Given the description of an element on the screen output the (x, y) to click on. 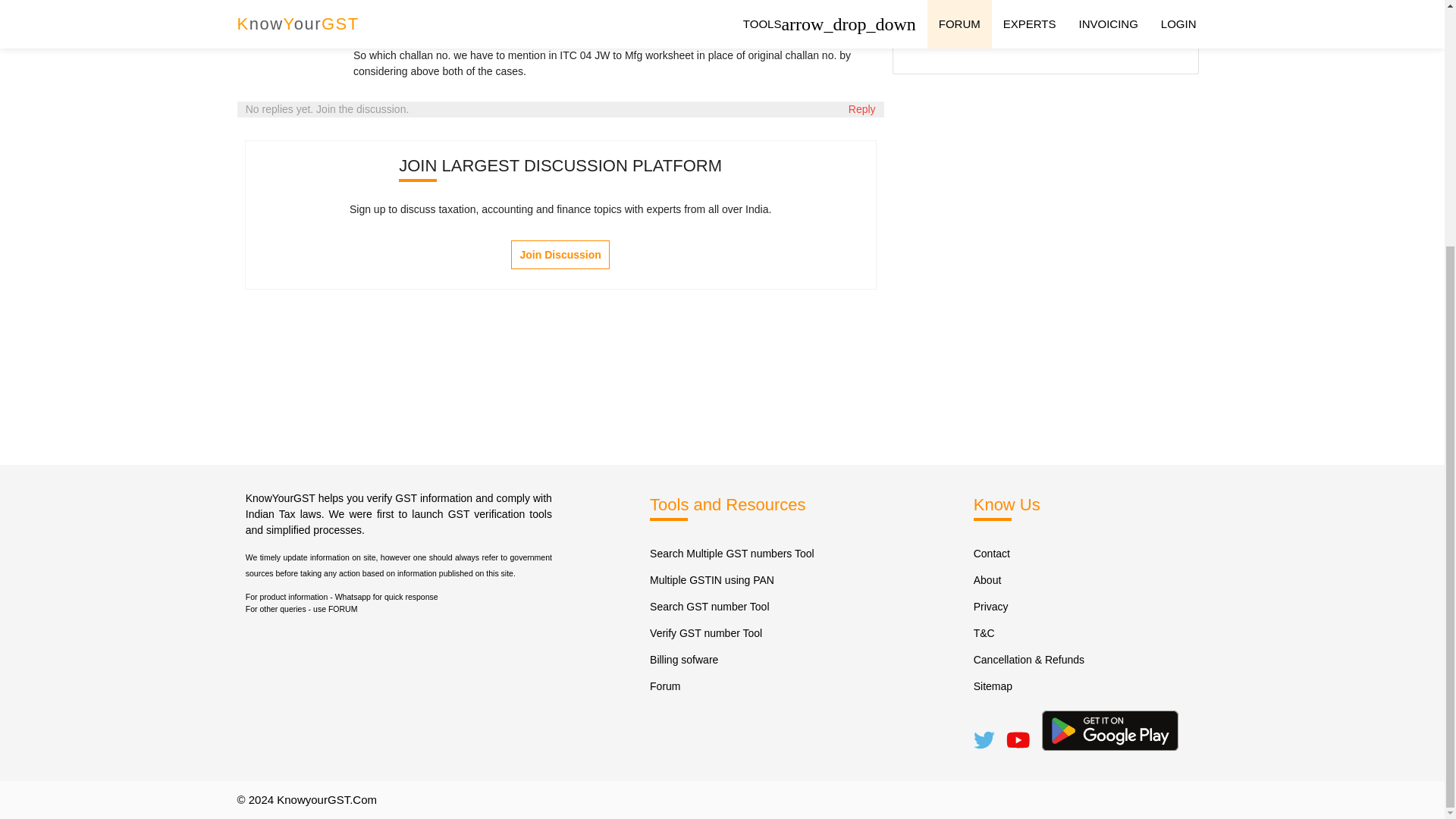
Join Discussion (559, 254)
Mukesh Solanki Expert Reputation: 206 (923, 34)
Suresh Paramasivam Expert Reputation: 182 (1001, 34)
